Given the description of an element on the screen output the (x, y) to click on. 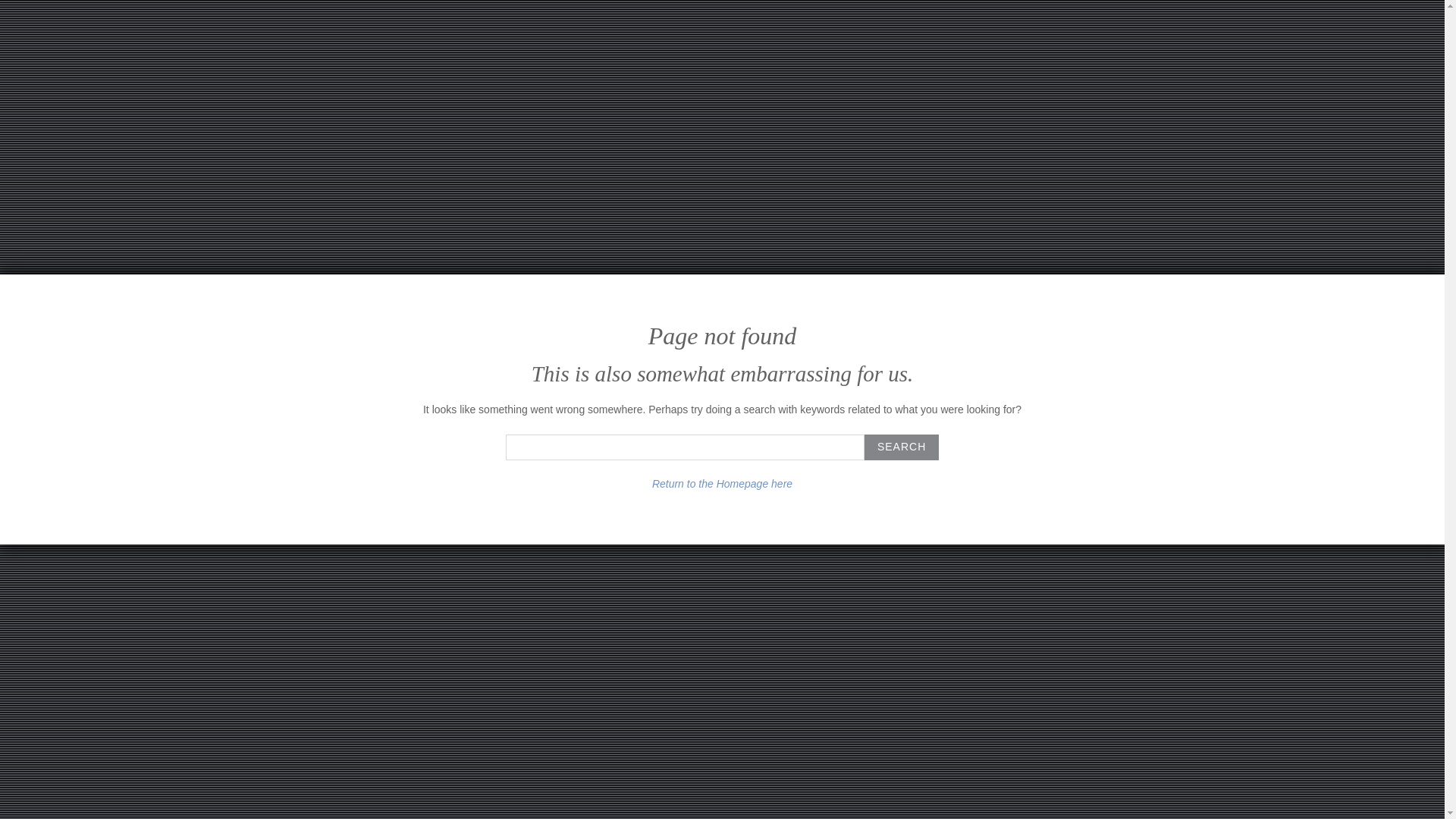
Search (901, 447)
Return to the Homepage here (722, 483)
Search (901, 447)
